Given the description of an element on the screen output the (x, y) to click on. 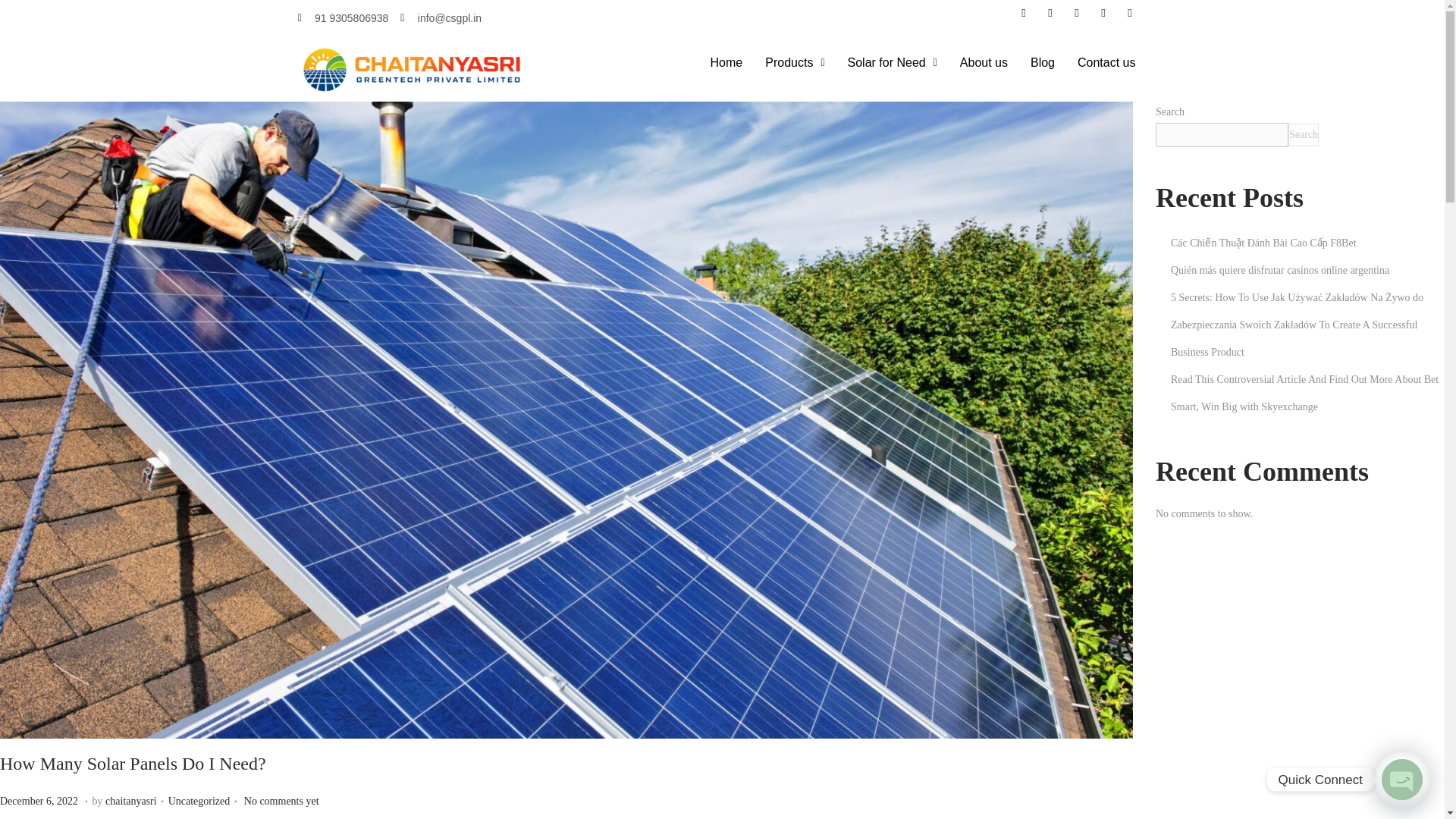
Solar for Need (892, 62)
Contact us (40, 800)
91 9305806938 (1106, 62)
Uncategorized (342, 17)
No comments yet (199, 800)
chaitanyasri (281, 800)
Search (130, 800)
Home (1303, 134)
Products (726, 62)
About us (794, 62)
Blog (984, 62)
How Many Solar Panels Do I Need? (1042, 62)
